Given the description of an element on the screen output the (x, y) to click on. 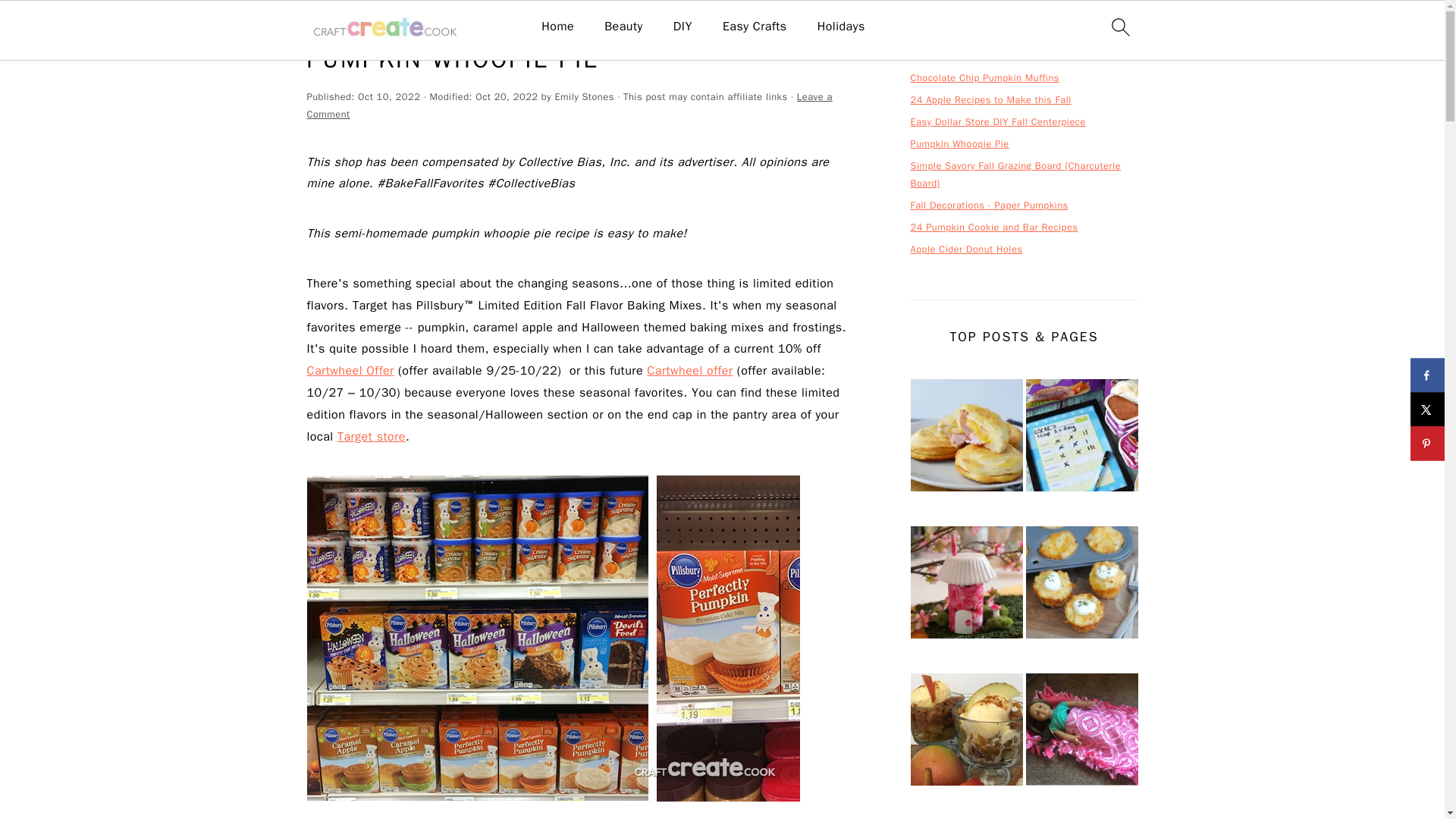
search icon (1119, 26)
Home (557, 26)
